Given the description of an element on the screen output the (x, y) to click on. 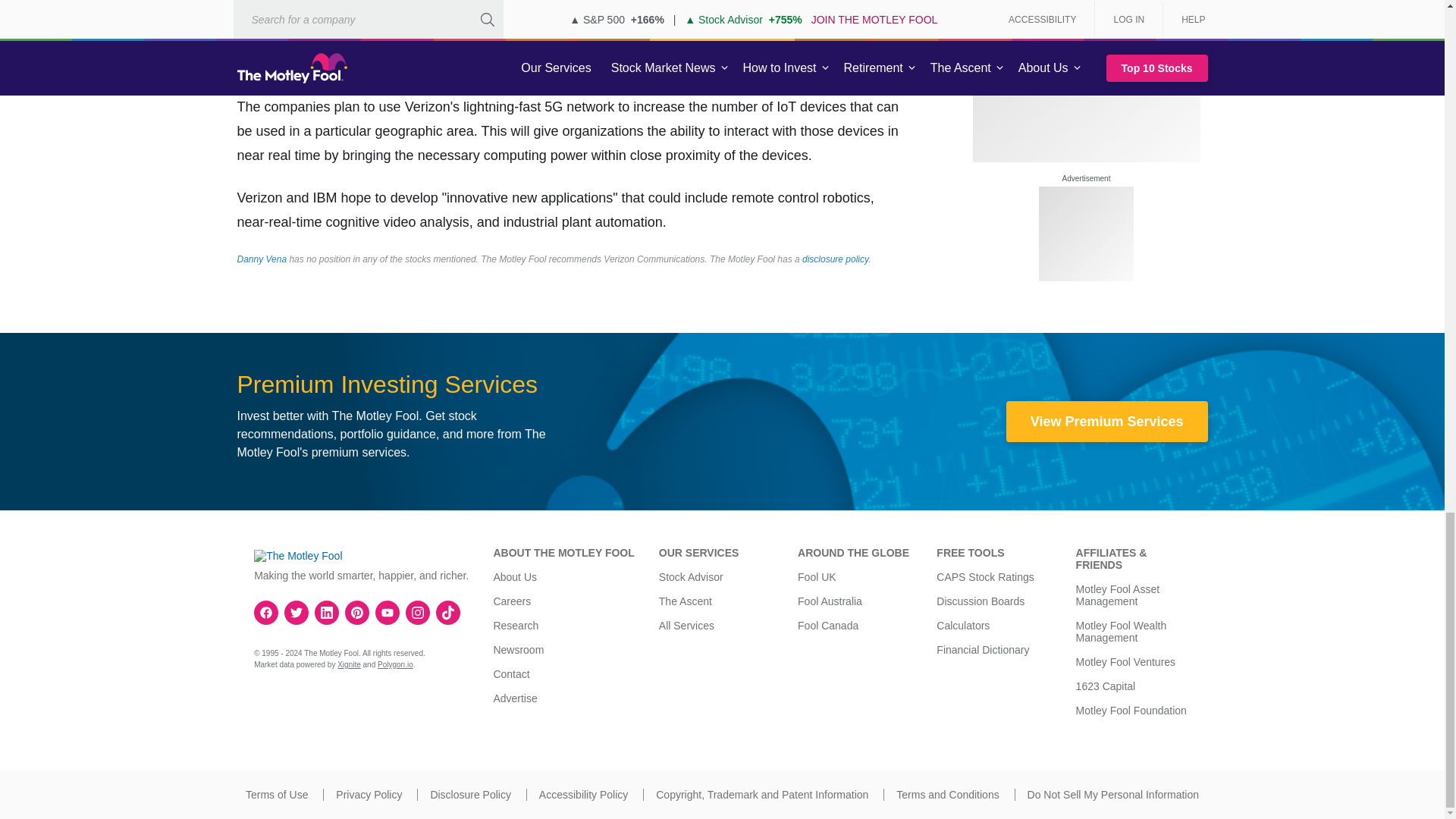
Accessibility Policy (582, 794)
Do Not Sell My Personal Information. (1112, 794)
Terms of Use (276, 794)
Privacy Policy (368, 794)
Terms and Conditions (947, 794)
Copyright, Trademark and Patent Information (761, 794)
Disclosure Policy (470, 794)
